Given the description of an element on the screen output the (x, y) to click on. 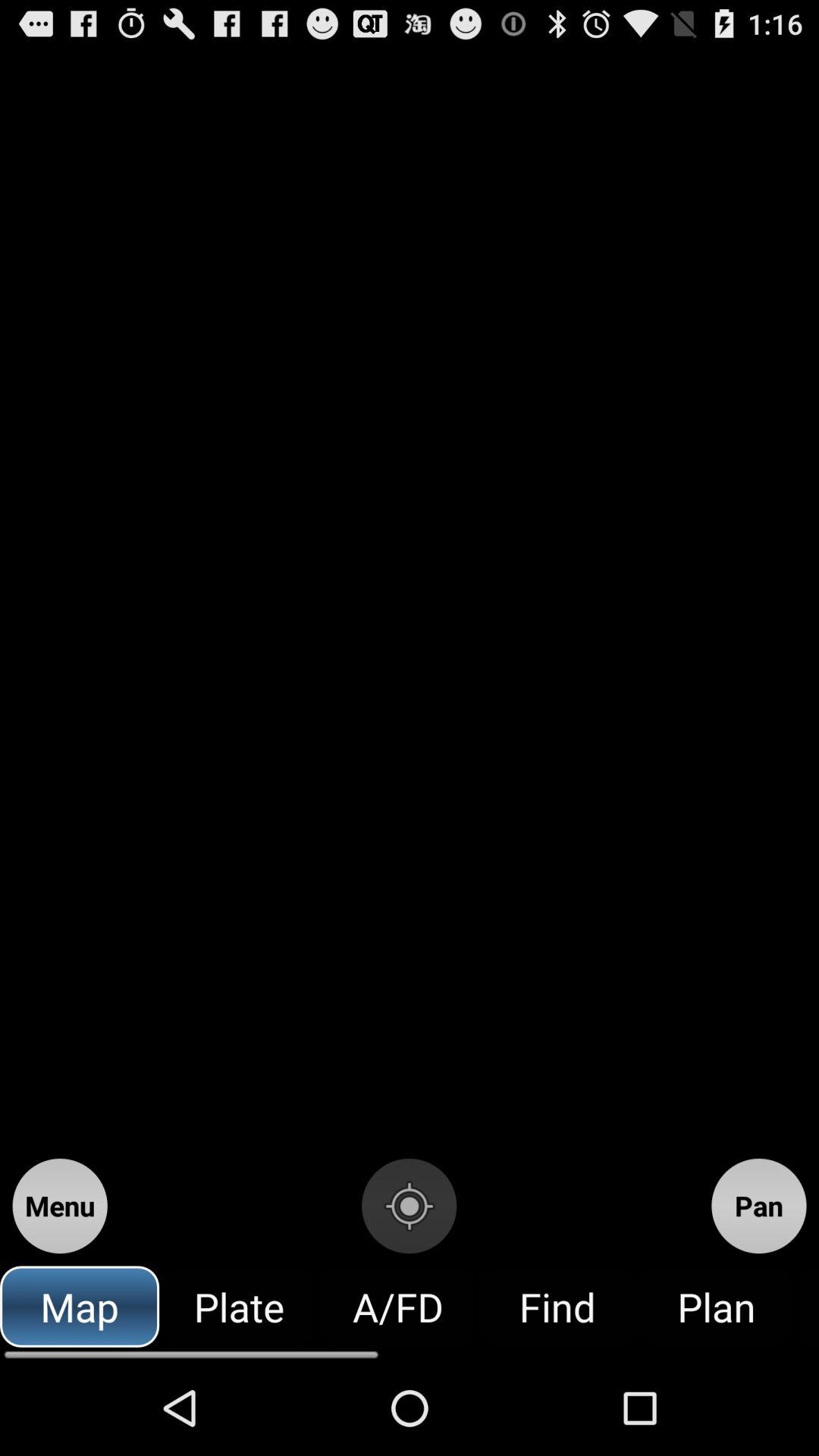
press the icon next to menu button (408, 1205)
